Given the description of an element on the screen output the (x, y) to click on. 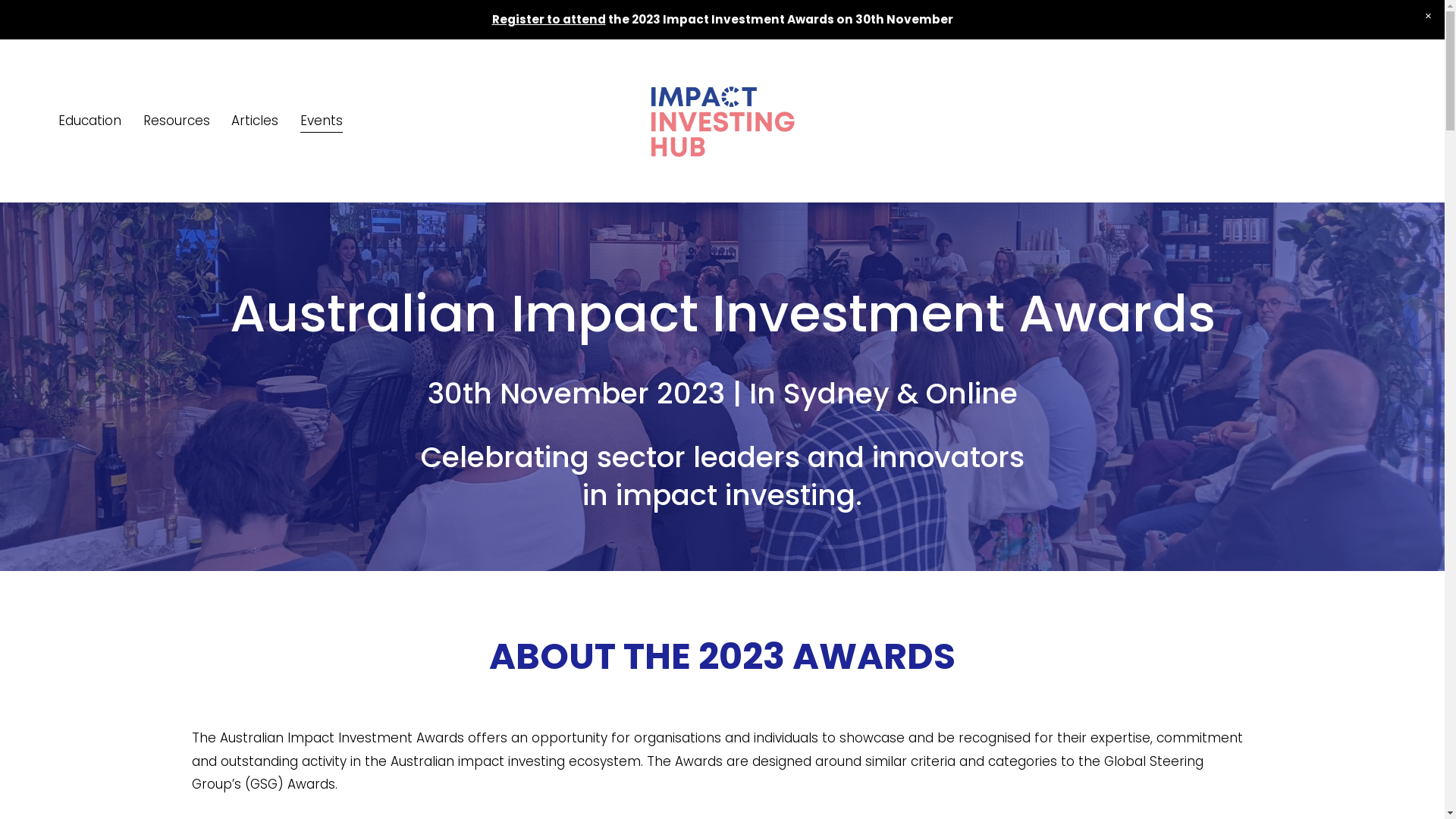
Education Element type: text (89, 121)
Articles Element type: text (254, 121)
Events Element type: text (321, 121)
Register to attend Element type: text (548, 19)
Resources Element type: text (176, 121)
